Given the description of an element on the screen output the (x, y) to click on. 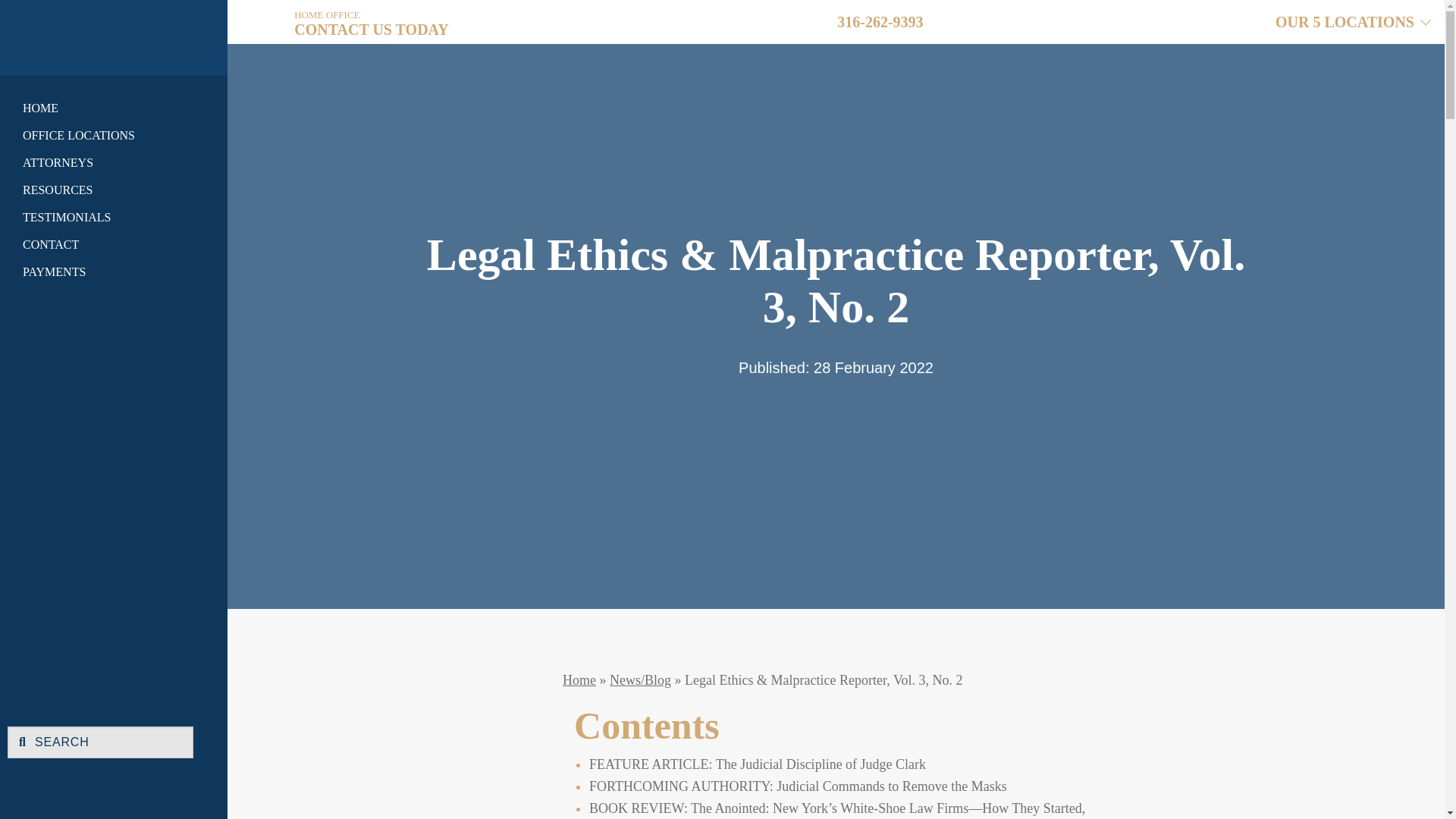
HOME (100, 108)
OFFICE LOCATIONS (100, 135)
ATTORNEYS (100, 162)
Home (71, 32)
RESOURCES (100, 190)
